Given the description of an element on the screen output the (x, y) to click on. 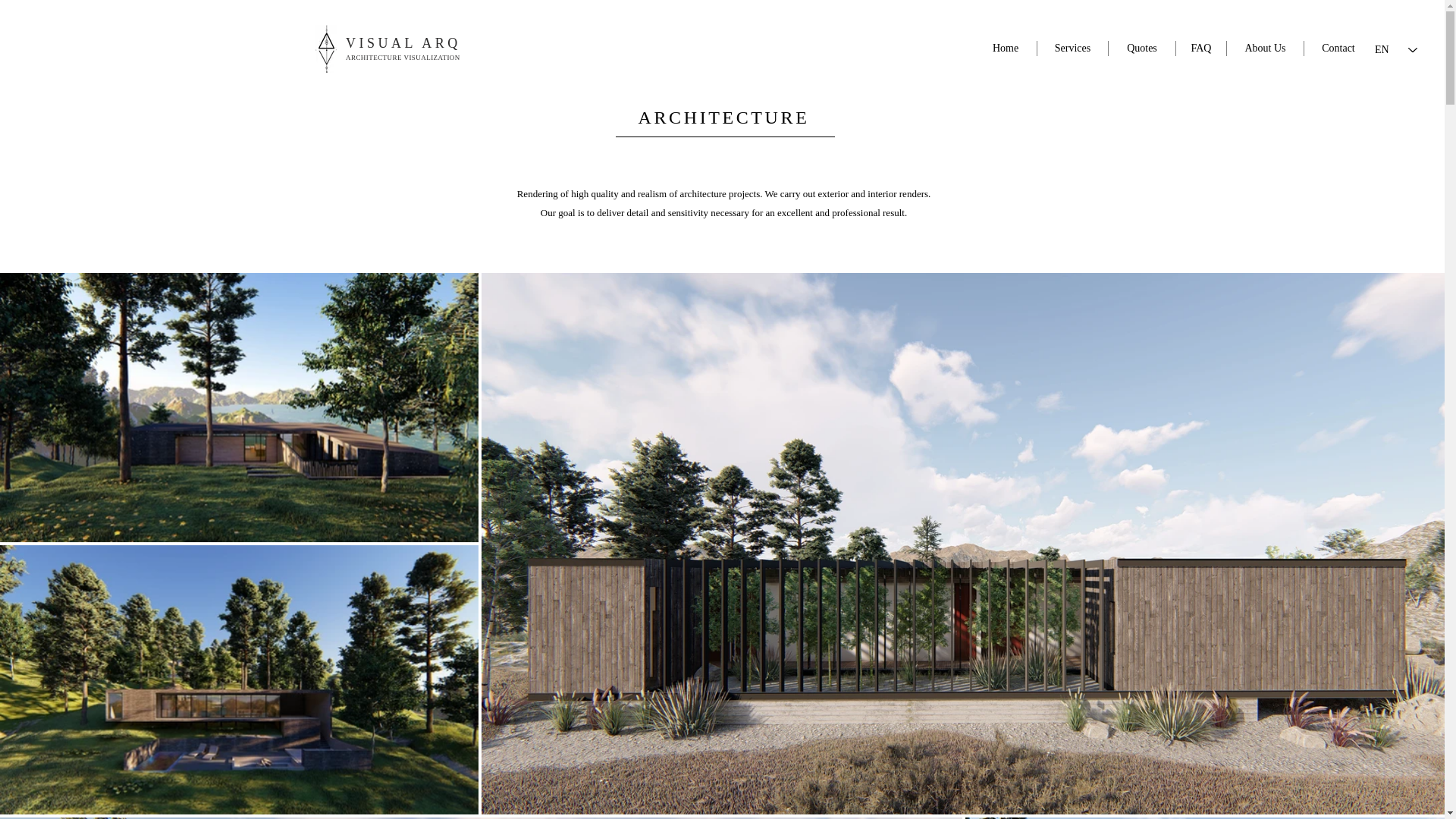
FAQ (1200, 48)
Quotes (1141, 48)
Contact (1338, 48)
VISUAL ARQ (403, 43)
Home (1005, 48)
About Us (1265, 48)
